Given the description of an element on the screen output the (x, y) to click on. 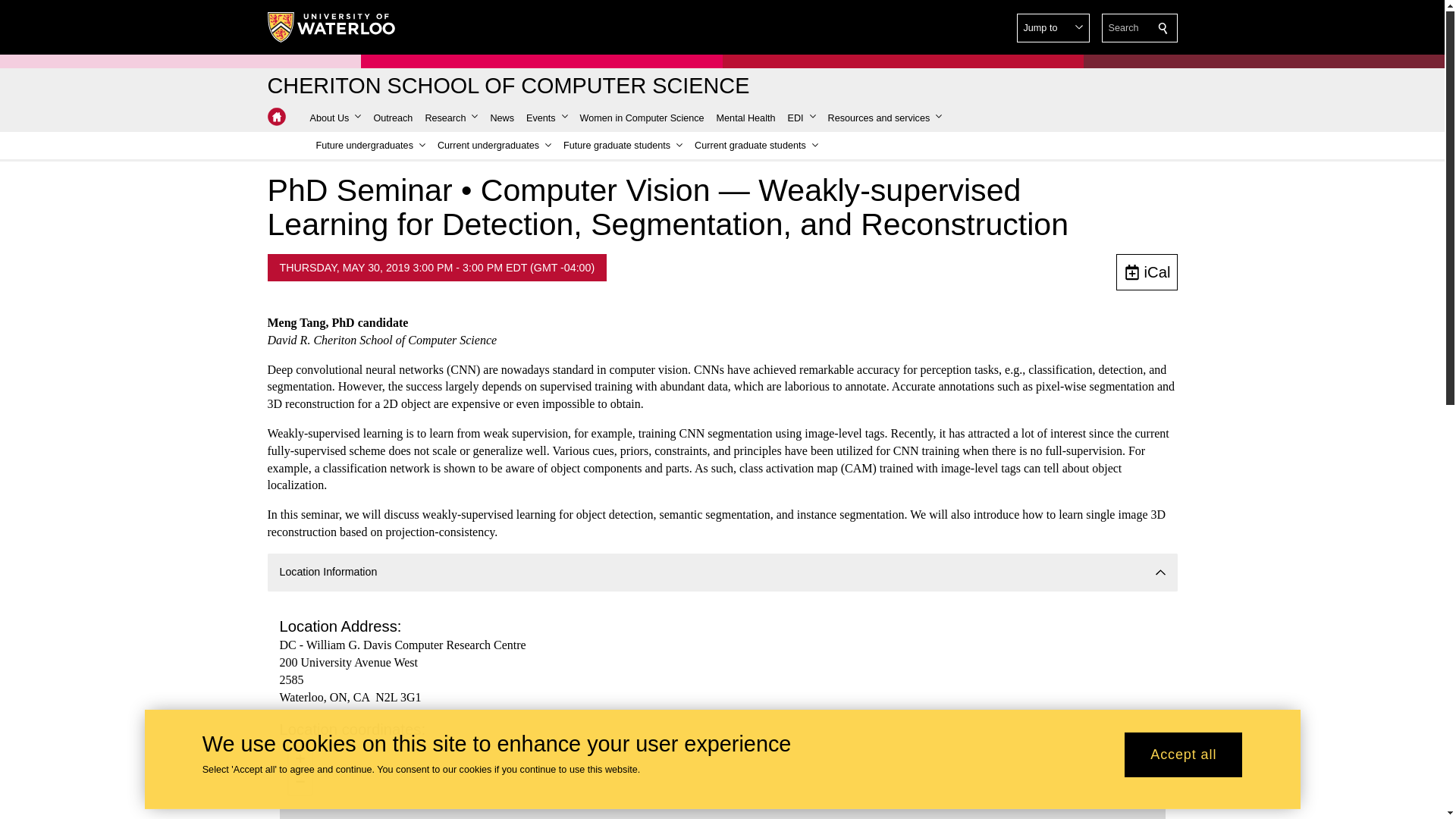
Jump to (1053, 27)
Zoom out (299, 783)
Search (1163, 27)
Zoom in (299, 760)
About Us (334, 117)
Events (546, 117)
Cheriton School of Computer Science Home (275, 116)
University of Waterloo Home (331, 27)
Cheriton School of Computer Science Home (275, 116)
Search (1163, 27)
Research (451, 117)
Outreach (392, 117)
CHERITON SCHOOL OF COMPUTER SCIENCE (507, 85)
News (501, 117)
